Given the description of an element on the screen output the (x, y) to click on. 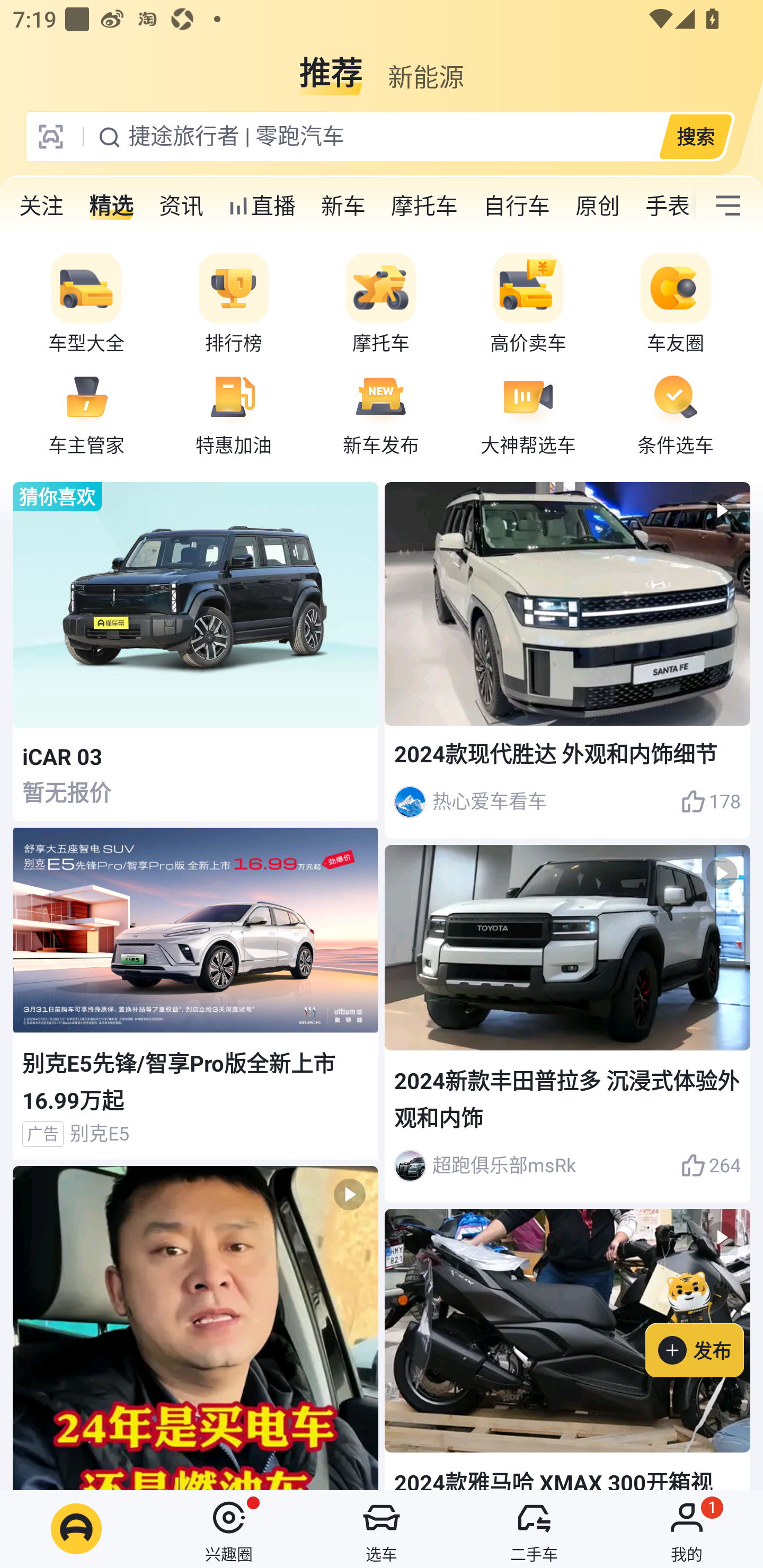
推荐 (330, 65)
新能源 (425, 65)
搜索 (695, 136)
关注 (41, 205)
精选 (111, 205)
资讯 (180, 205)
直播 (261, 205)
新车 (343, 205)
摩托车 (424, 205)
自行车 (516, 205)
原创 (597, 205)
手表 (663, 205)
 (727, 205)
车型大全 (86, 303)
排行榜 (233, 303)
摩托车 (380, 303)
高价卖车 (528, 303)
车友圈 (675, 303)
车主管家 (86, 412)
特惠加油 (233, 412)
新车发布 (380, 412)
大神帮选车 (528, 412)
条件选车 (675, 412)
猜你喜欢 iCAR 03 暂无报价 (195, 651)
 2024款现代胜达 外观和内饰细节 热心爱车看车 178 (567, 659)
178 (710, 801)
别克E5先锋/智享Pro版全新上市 16.99万起 广告 别克E5 (195, 993)
 2024新款丰田普拉多 沉浸式体验外观和内饰 超跑俱乐部msRk 264 (567, 1023)
264 (710, 1165)
 (195, 1327)
 2024款雅马哈 XMAX 300开箱视频，侧脸太帅了 (567, 1348)
发布 (704, 1320)
 兴趣圈 (228, 1528)
 选车 (381, 1528)
 二手车 (533, 1528)
 我的 (686, 1528)
